Given the description of an element on the screen output the (x, y) to click on. 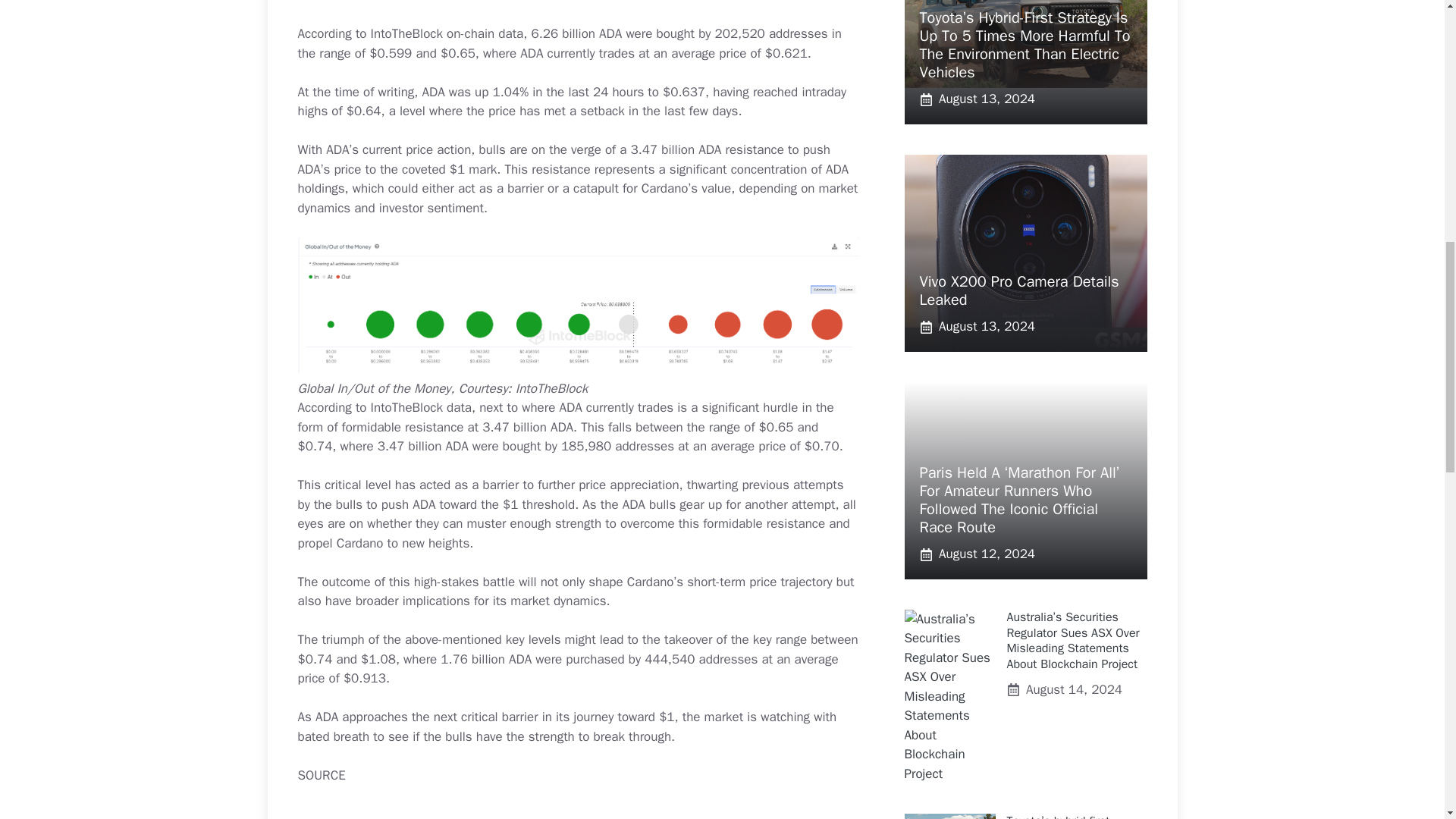
Vivo X200 Pro Camera Details Leaked (1018, 290)
SOURCE (321, 774)
Scroll back to top (1406, 720)
